Given the description of an element on the screen output the (x, y) to click on. 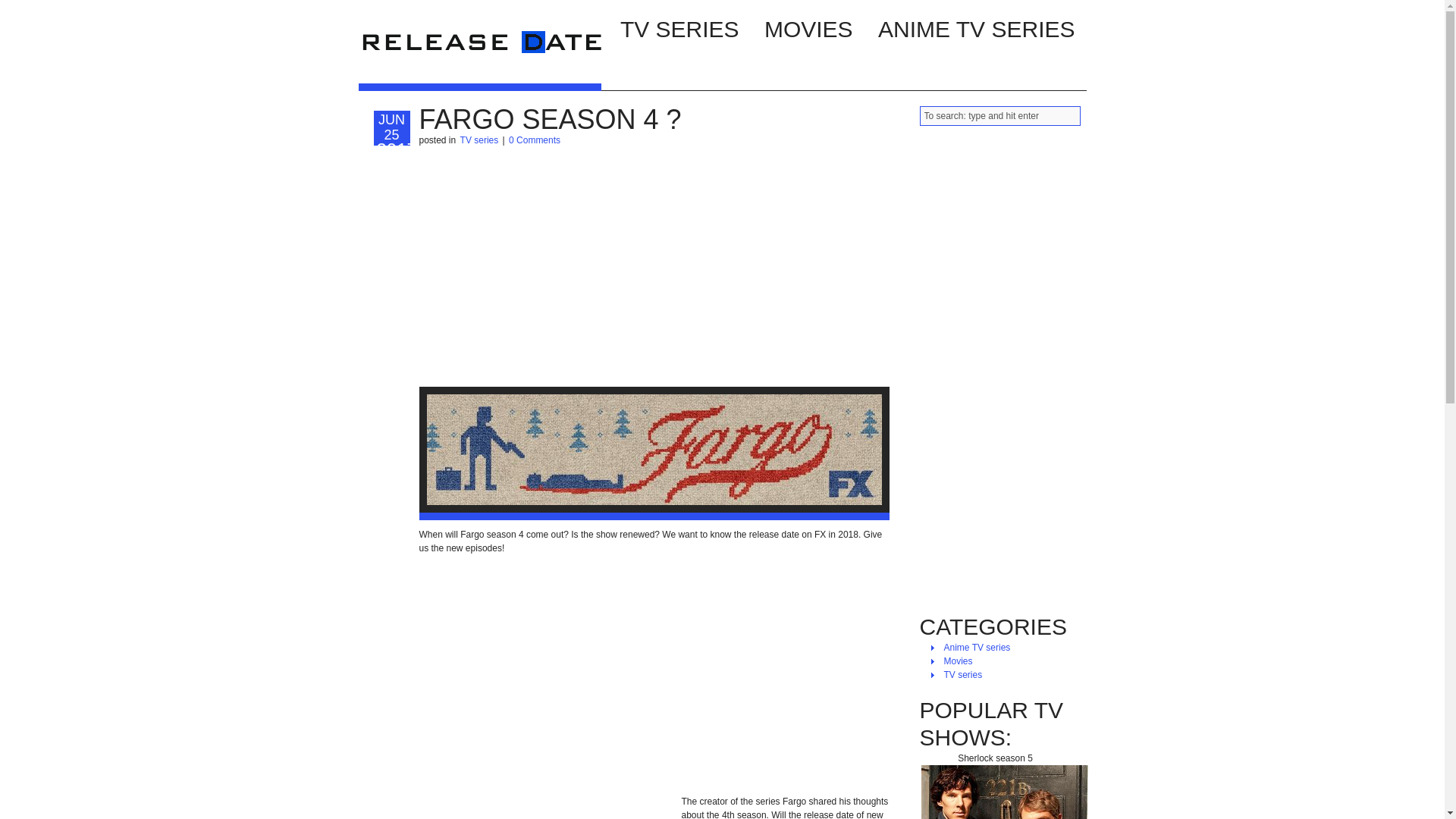
TV series (479, 140)
0 Comments (534, 140)
Anime TV series (976, 647)
ANIME TV SERIES (976, 27)
Movies (958, 661)
TV SERIES (679, 27)
Advertisement (545, 810)
MOVIES (808, 27)
Advertisement (653, 266)
To search: type and hit enter (999, 116)
